Given the description of an element on the screen output the (x, y) to click on. 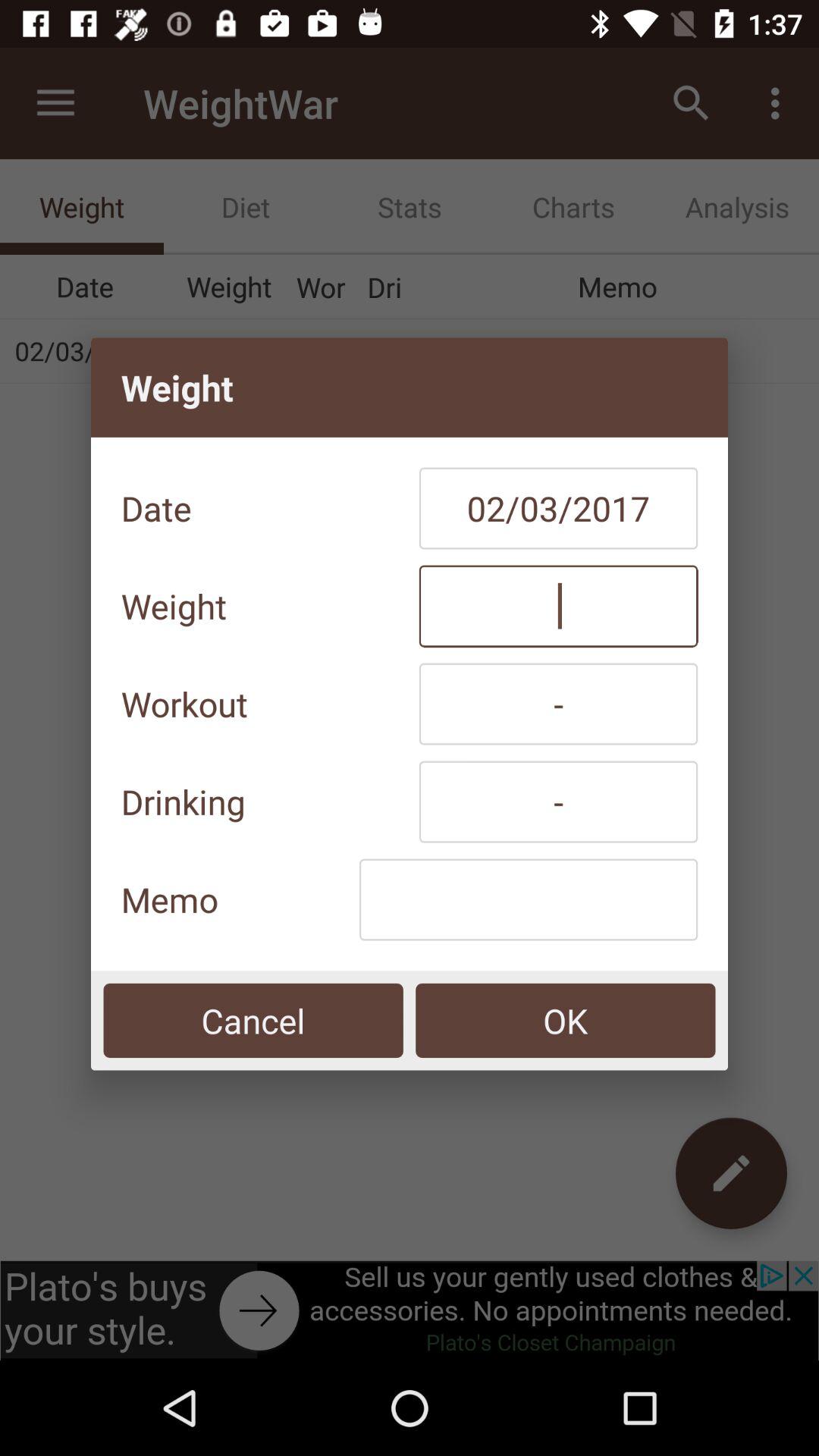
tap icon to the right of weight (558, 606)
